Given the description of an element on the screen output the (x, y) to click on. 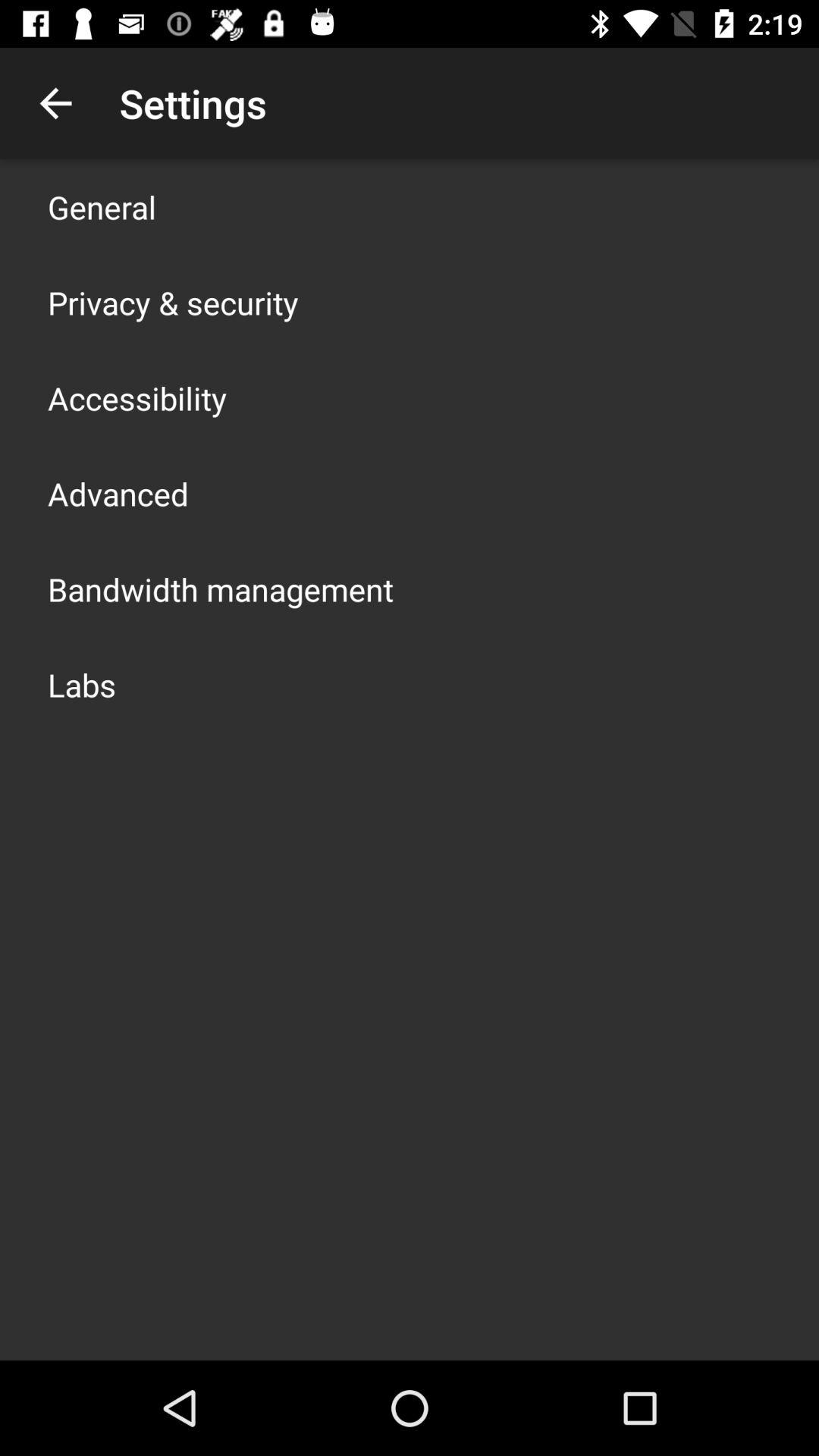
turn on app above advanced item (136, 397)
